Given the description of an element on the screen output the (x, y) to click on. 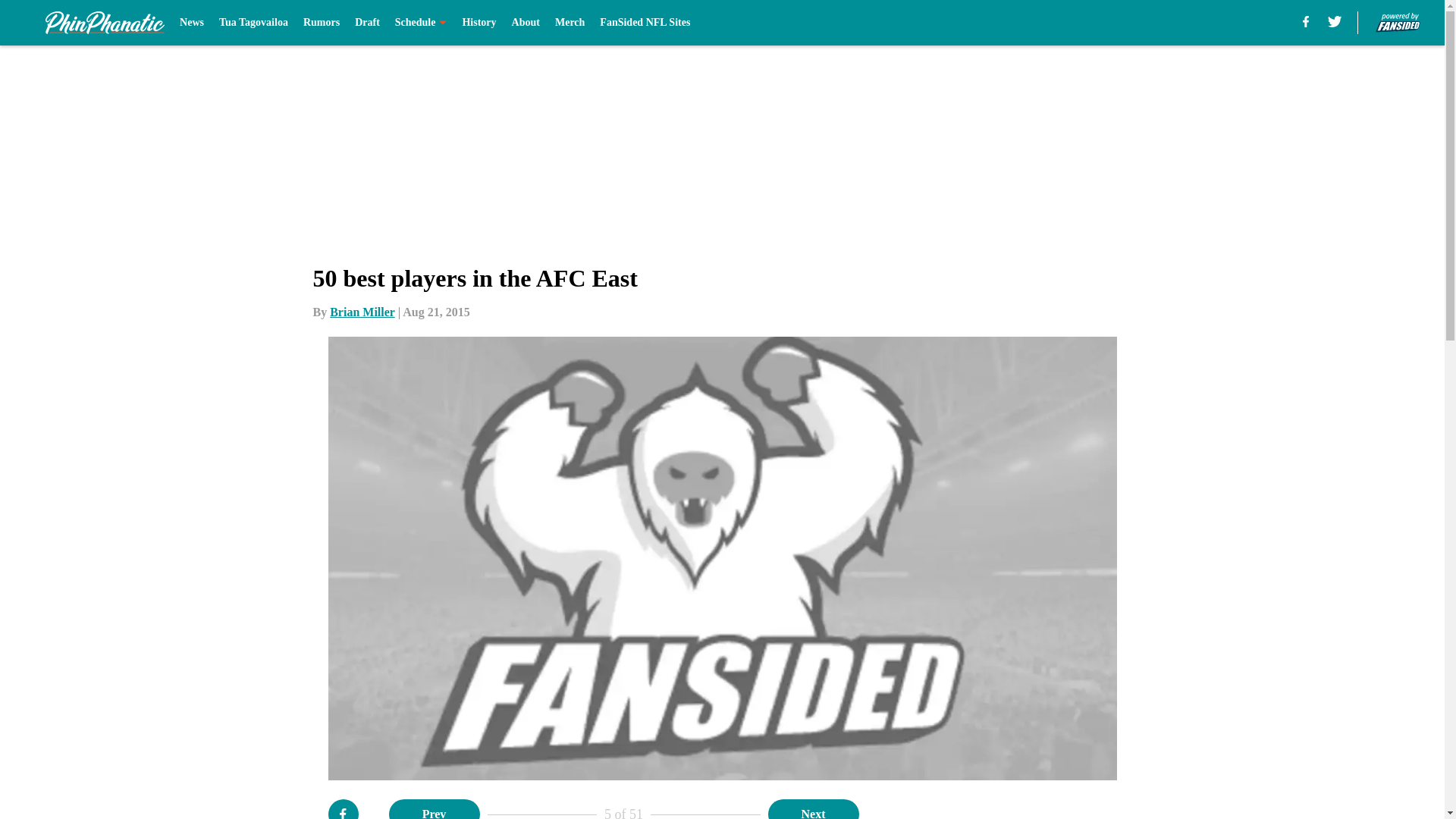
Prev (433, 809)
History (478, 22)
Rumors (320, 22)
Next (813, 809)
Merch (569, 22)
News (191, 22)
About (526, 22)
Brian Miller (362, 311)
FanSided NFL Sites (644, 22)
Draft (367, 22)
